Given the description of an element on the screen output the (x, y) to click on. 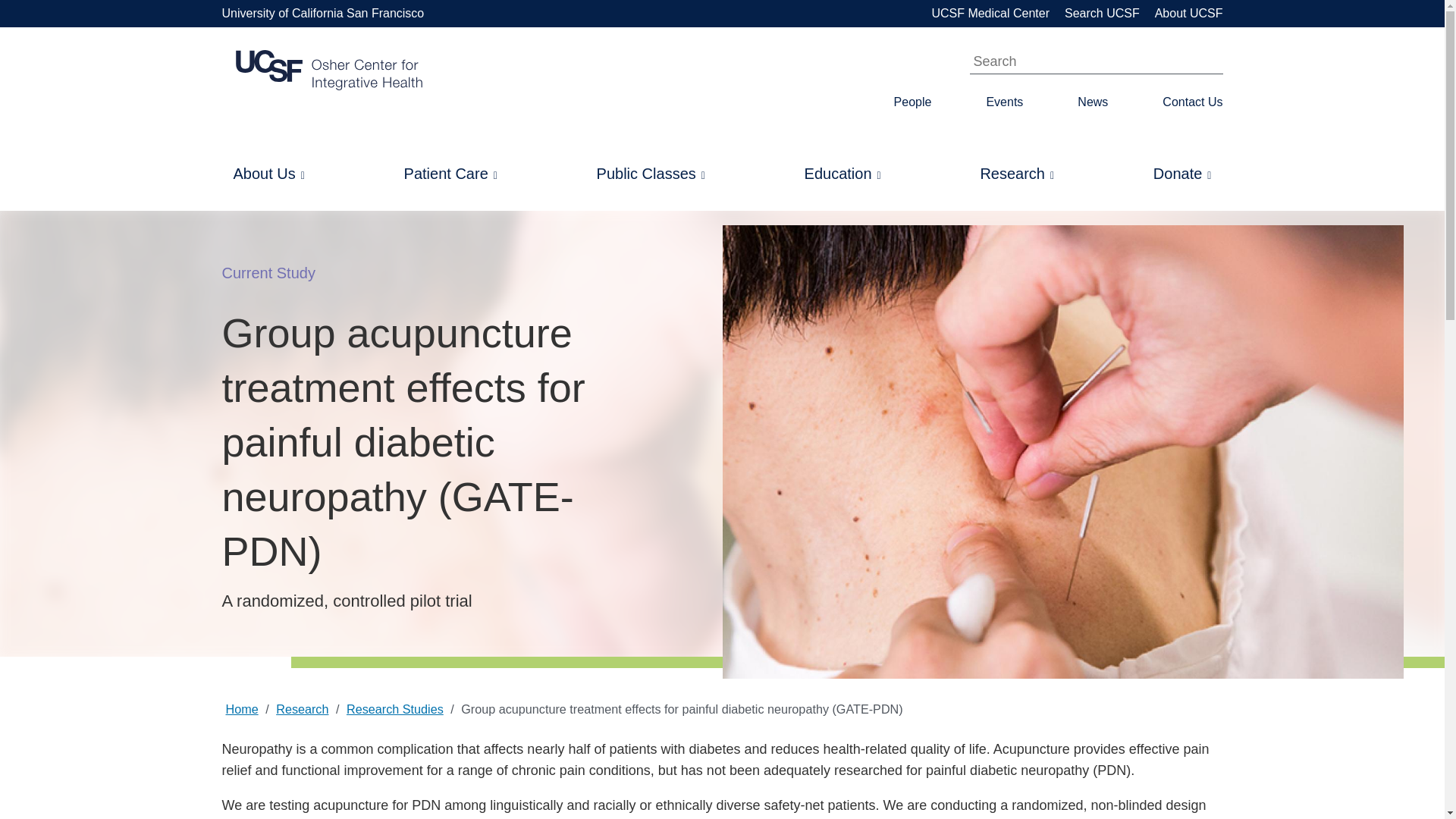
Apply (1198, 65)
Search UCSF (1102, 13)
Contact Us (1192, 101)
UCSF Medical Center (990, 13)
Apply (1198, 65)
About Us (268, 173)
Events (1004, 101)
About UCSF (1188, 13)
Home (328, 69)
News (1092, 101)
Patient Care (450, 173)
People (912, 101)
University of California San Francisco (322, 13)
